Given the description of an element on the screen output the (x, y) to click on. 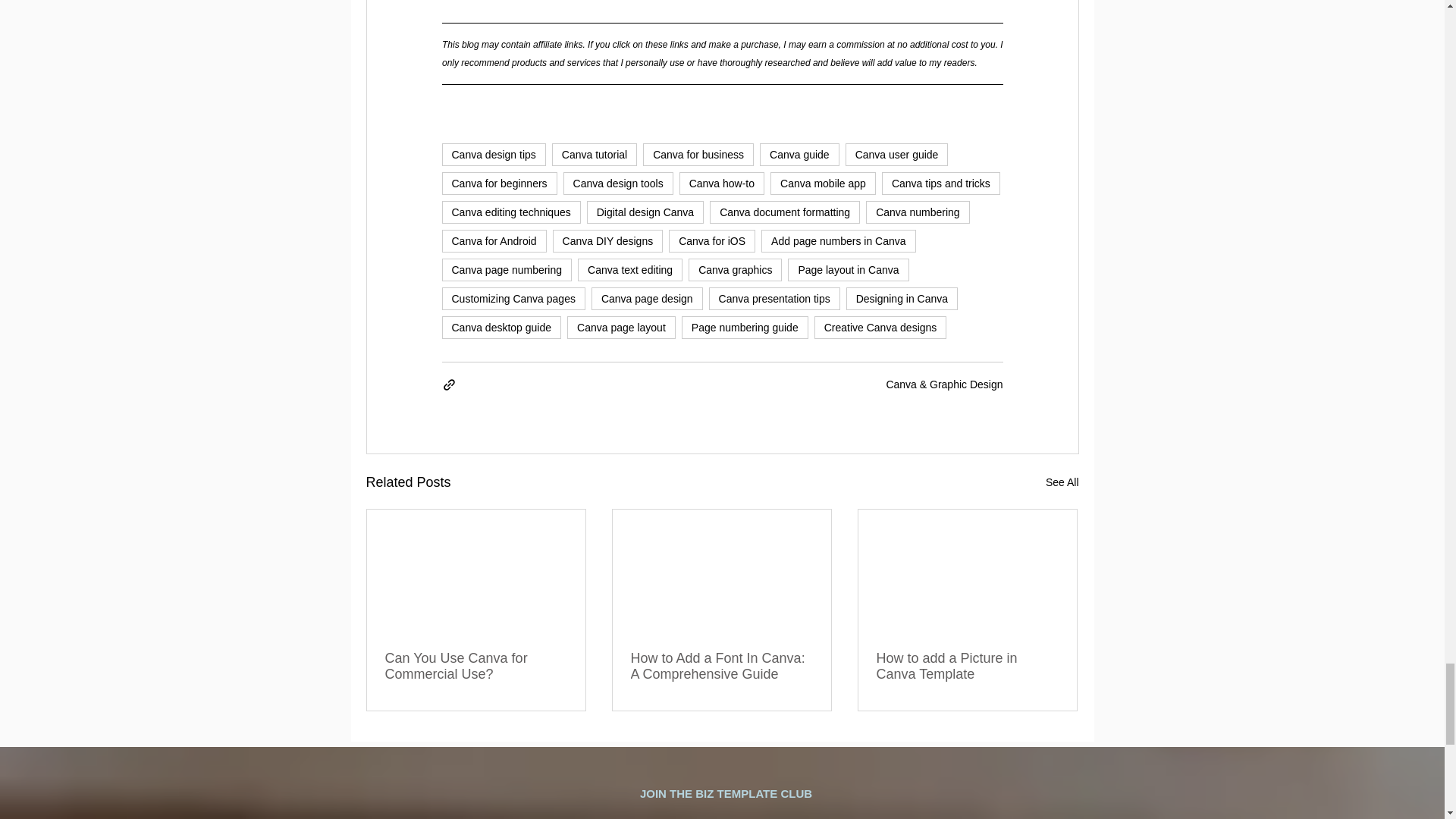
Canva editing techniques (510, 210)
Canva design tools (617, 182)
Canva tips and tricks (941, 182)
Canva guide (800, 153)
Canva mobile app (823, 182)
Canva for beginners (498, 182)
Canva user guide (897, 153)
Canva how-to (721, 182)
Canva design tips (492, 153)
Canva tutorial (594, 153)
